Given the description of an element on the screen output the (x, y) to click on. 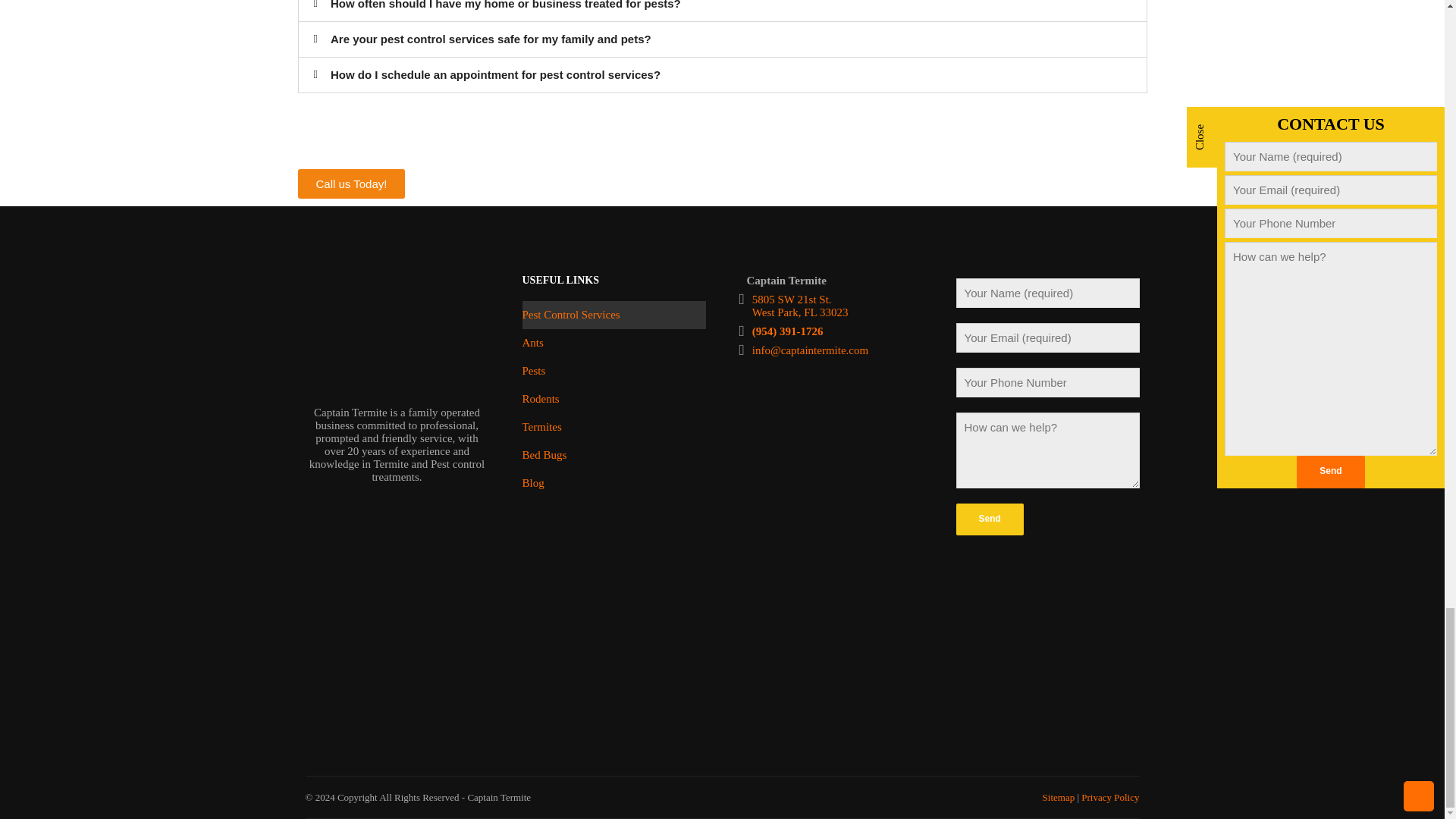
Send (989, 519)
